Given the description of an element on the screen output the (x, y) to click on. 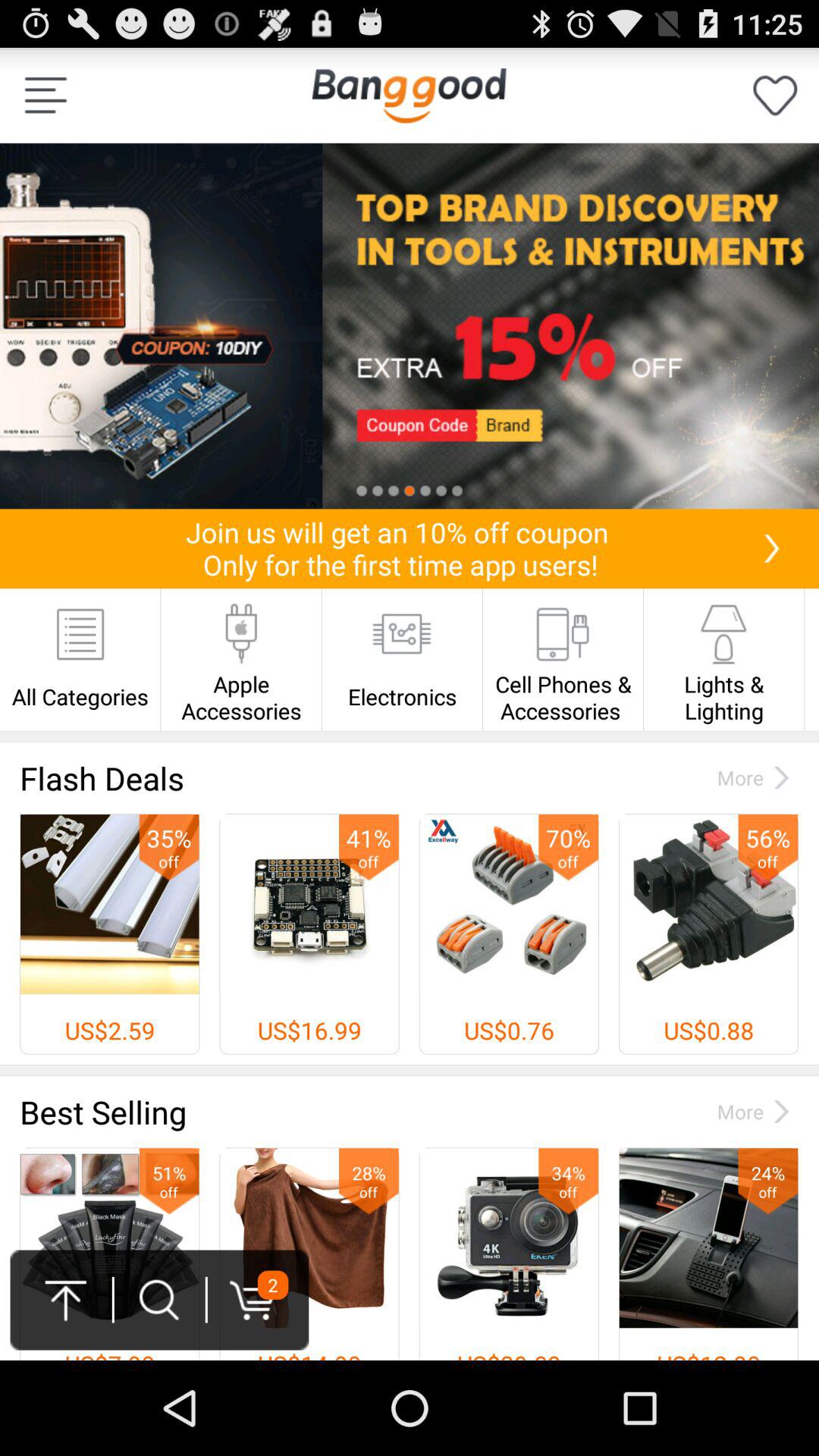
view menu (45, 95)
